Given the description of an element on the screen output the (x, y) to click on. 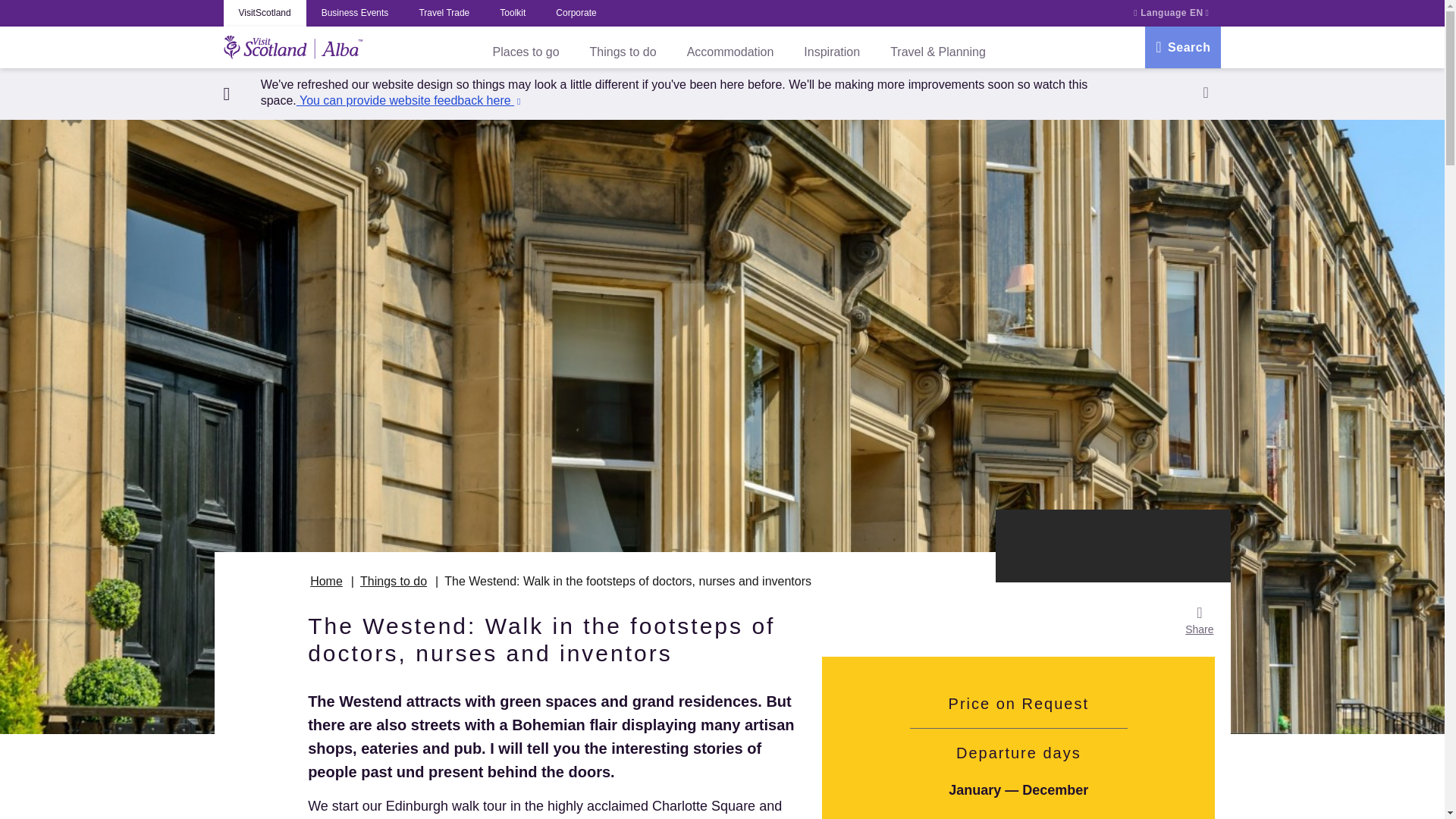
Places to go (526, 51)
VisitScotland (263, 13)
Travel Trade (443, 13)
Toolkit (512, 13)
Corporate (575, 13)
LanguageEN (1172, 12)
VisitScotland Home (292, 47)
Business Events (354, 13)
